Given the description of an element on the screen output the (x, y) to click on. 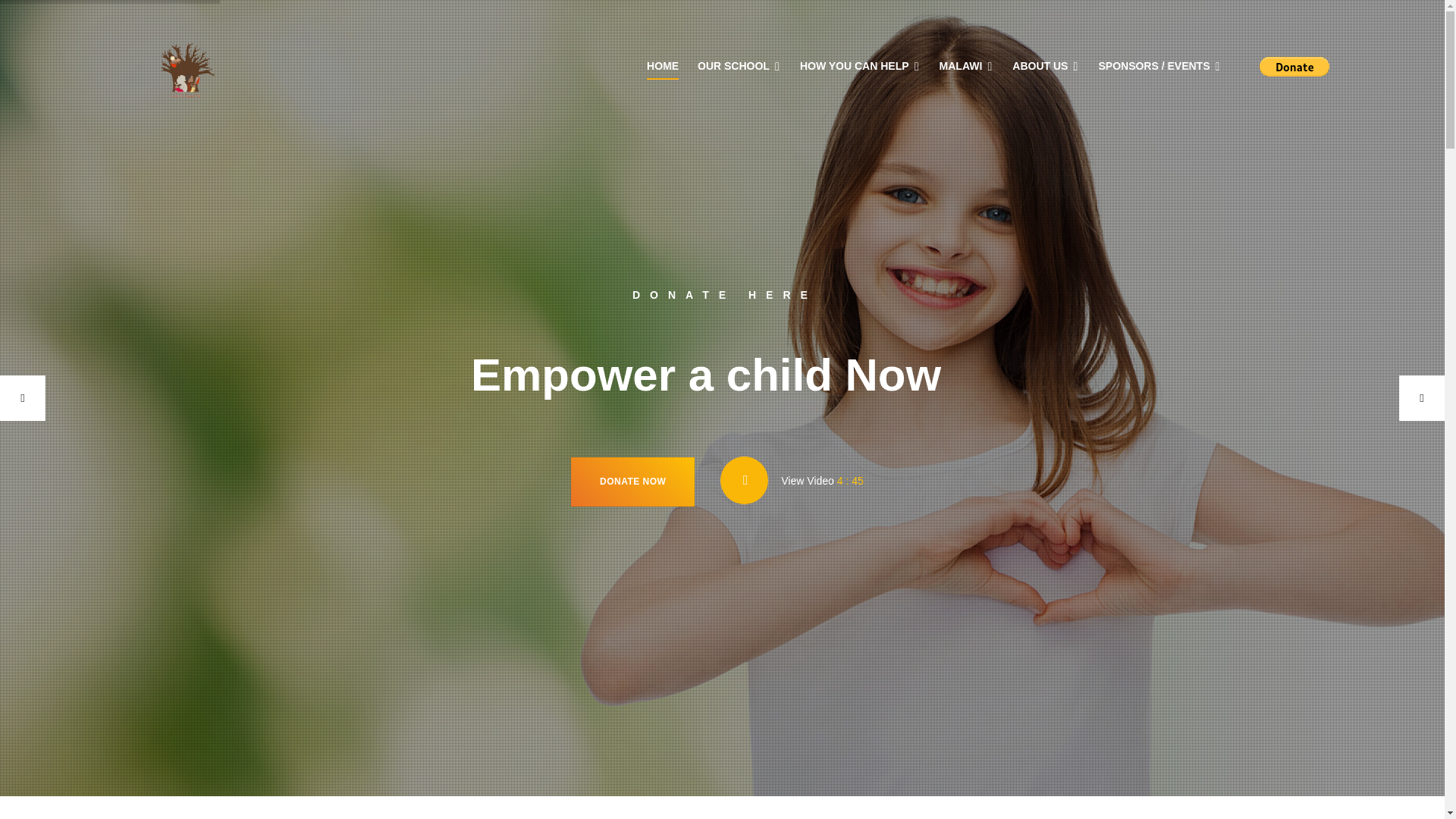
ABOUT US (1044, 66)
OUR SCHOOL (738, 66)
MALAWI (966, 66)
HOME (662, 66)
HOW YOU CAN HELP (859, 66)
PayPal - The safer, easier way to pay online! (1293, 66)
